Given the description of an element on the screen output the (x, y) to click on. 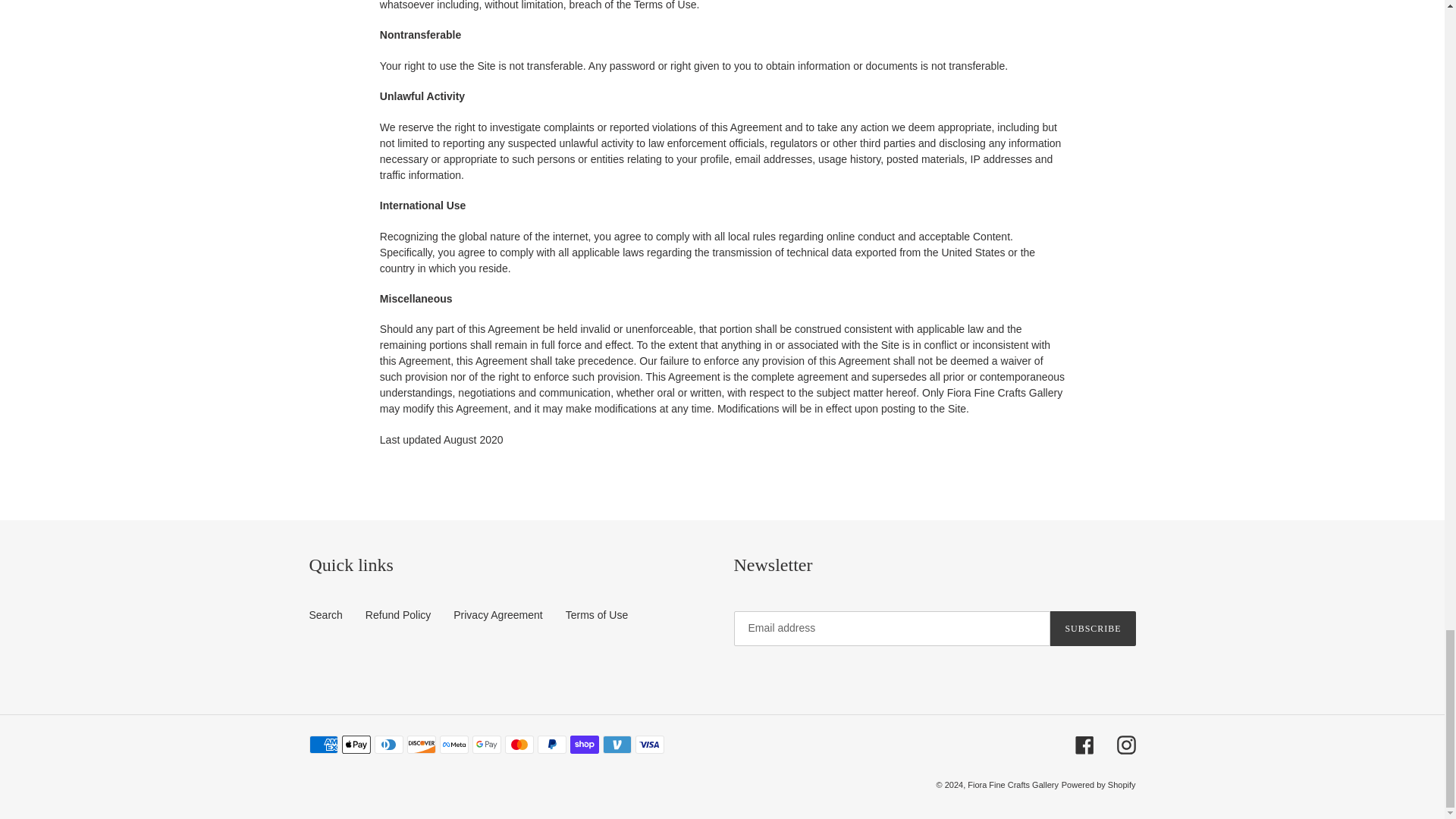
Instagram (1125, 744)
Fiora Fine Crafts Gallery (1013, 784)
Refund Policy (397, 614)
Privacy Agreement (497, 614)
Facebook (1084, 744)
Terms of Use (596, 614)
SUBSCRIBE (1092, 628)
Powered by Shopify (1098, 784)
Search (325, 614)
